Given the description of an element on the screen output the (x, y) to click on. 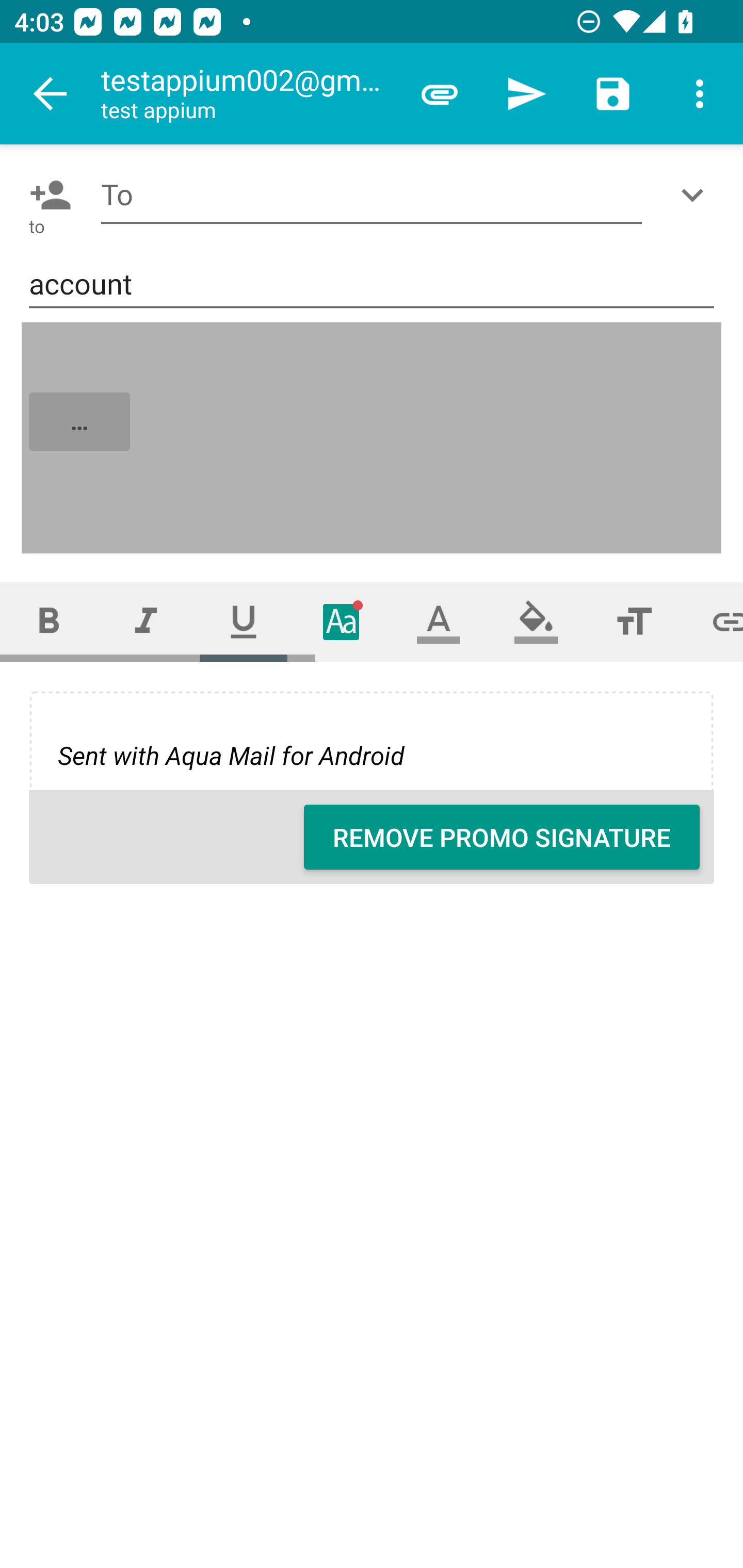
Navigate up (50, 93)
testappium002@gmail.com test appium (248, 93)
Attach (439, 93)
Send (525, 93)
Save (612, 93)
More options (699, 93)
Pick contact: To (46, 195)
Show/Add CC/BCC (696, 195)
To (371, 195)
account (371, 284)

…
 (372, 438)
Bold (48, 621)
Italic (145, 621)
Underline (243, 621)
Typeface (font) (341, 621)
Text color (438, 621)
Fill color (536, 621)
Font size (633, 621)
REMOVE PROMO SIGNATURE (501, 837)
